Given the description of an element on the screen output the (x, y) to click on. 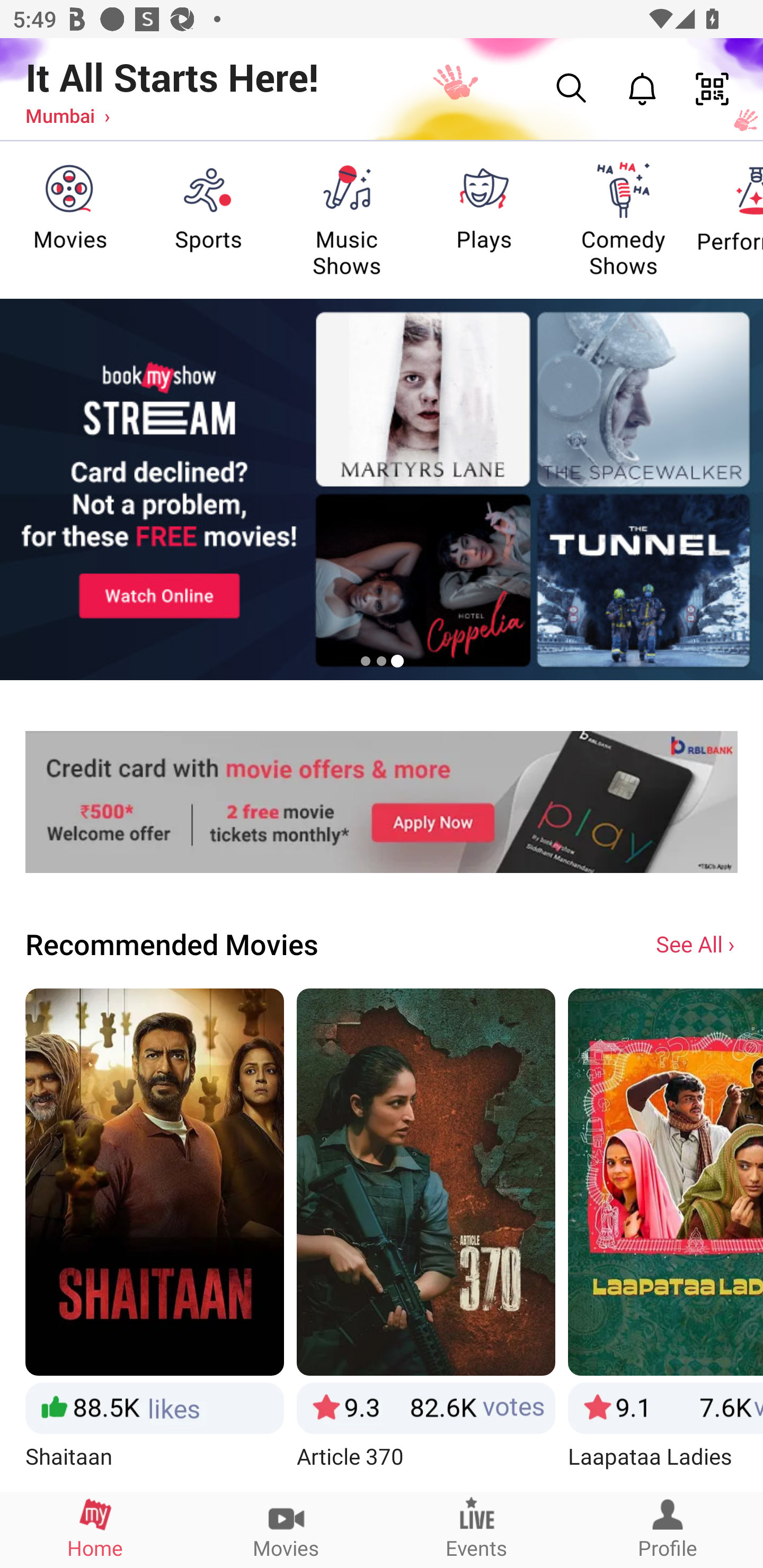
Mumbai  › (67, 114)
See All › (696, 943)
Shaitaan (154, 1239)
Article 370 (425, 1239)
Laapataa Ladies (665, 1239)
Home (95, 1529)
Movies (285, 1529)
Events (476, 1529)
Profile (667, 1529)
